Given the description of an element on the screen output the (x, y) to click on. 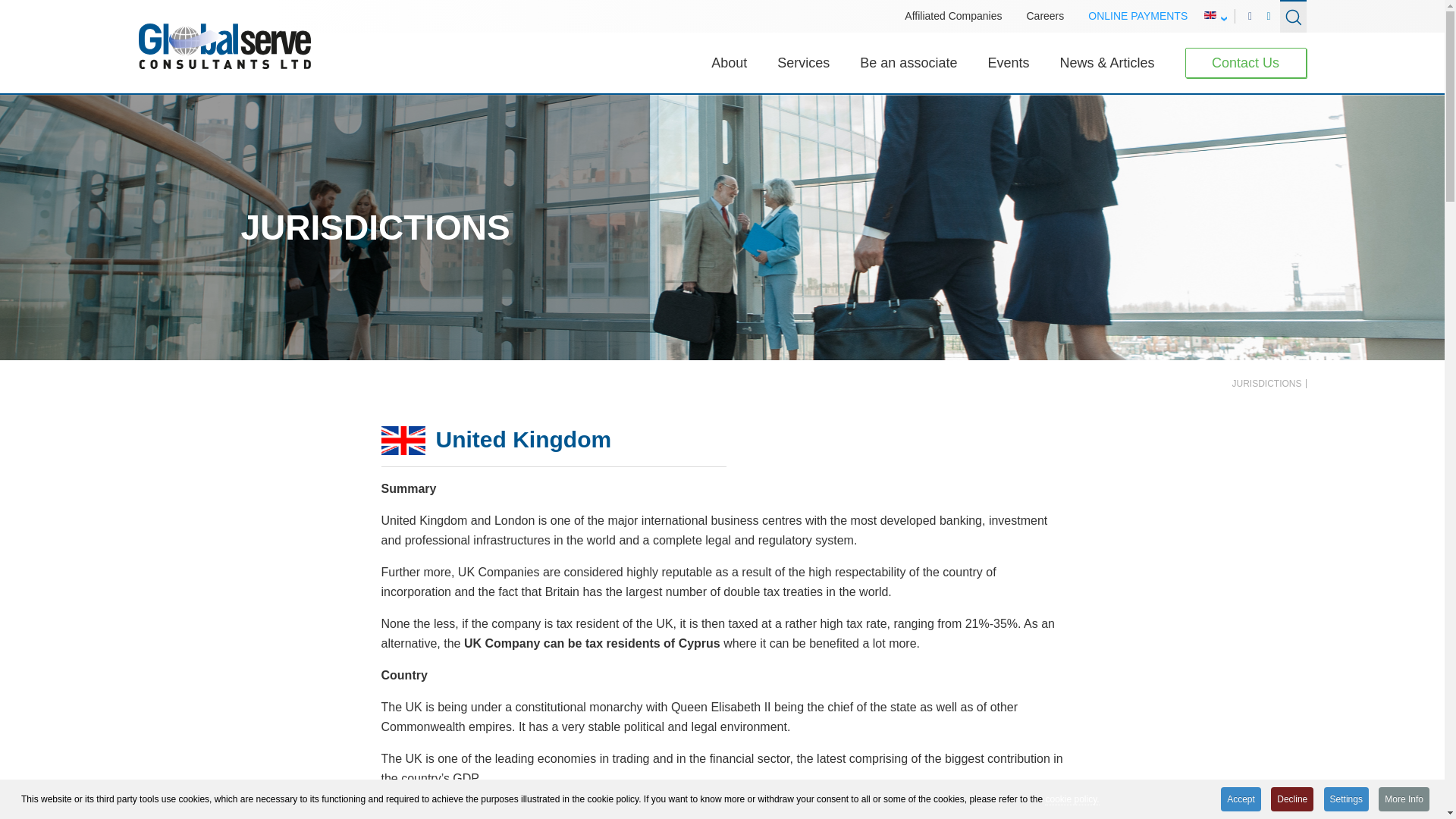
facebook (1250, 16)
ONLINE PAYMENTS (1137, 16)
Events (1008, 62)
Be an associate (908, 62)
linkedin (1268, 16)
About (728, 62)
Careers (1045, 16)
Services (803, 62)
Affiliated Companies (952, 16)
Contact Us (1245, 62)
JURISDICTIONS (1268, 383)
